Given the description of an element on the screen output the (x, y) to click on. 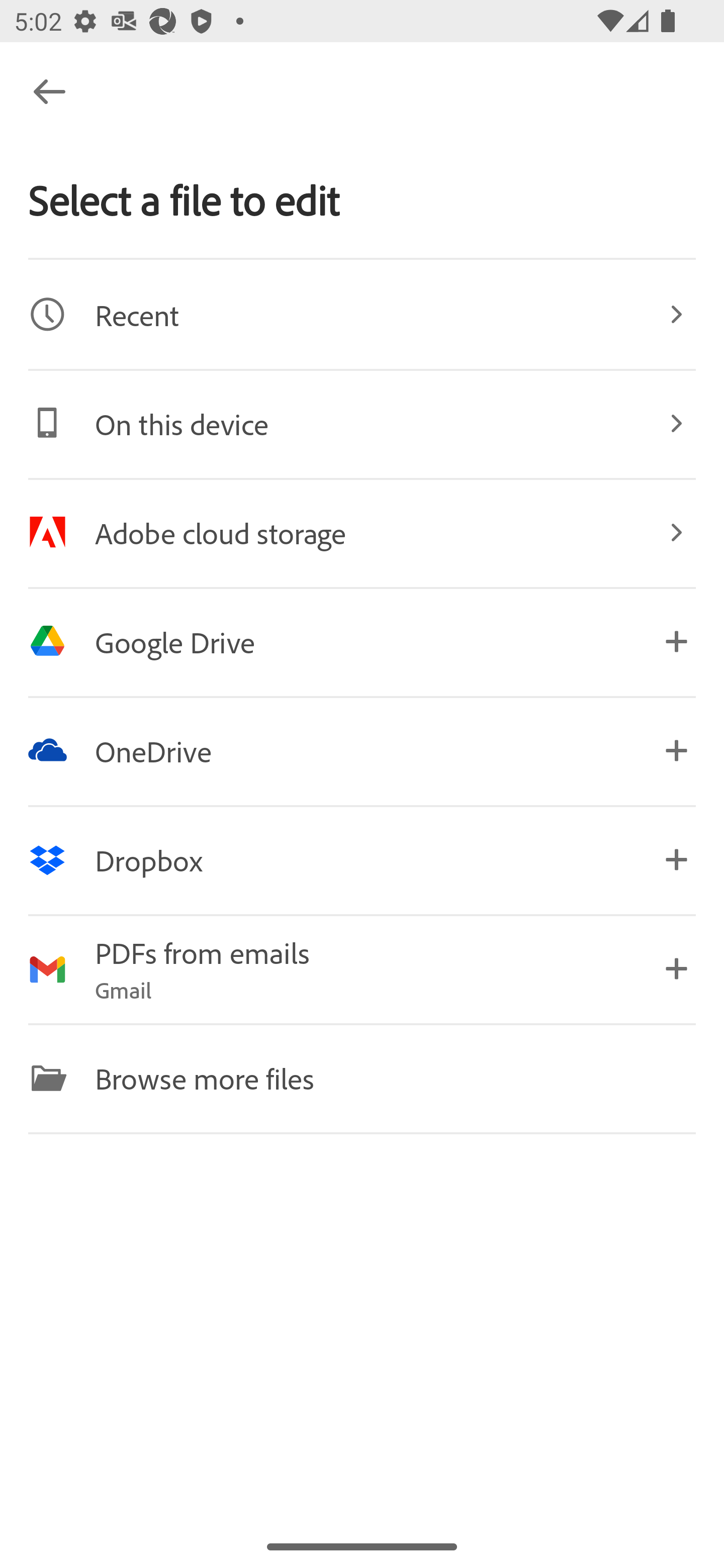
Navigate up (49, 91)
Image Recent (362, 314)
Image On this device (362, 423)
Image Adobe cloud storage (362, 532)
Image Google Drive (362, 641)
Image OneDrive (362, 750)
Image Dropbox (362, 859)
Image PDFs from emails Gmail (362, 968)
Image Browse more files (362, 1077)
